Given the description of an element on the screen output the (x, y) to click on. 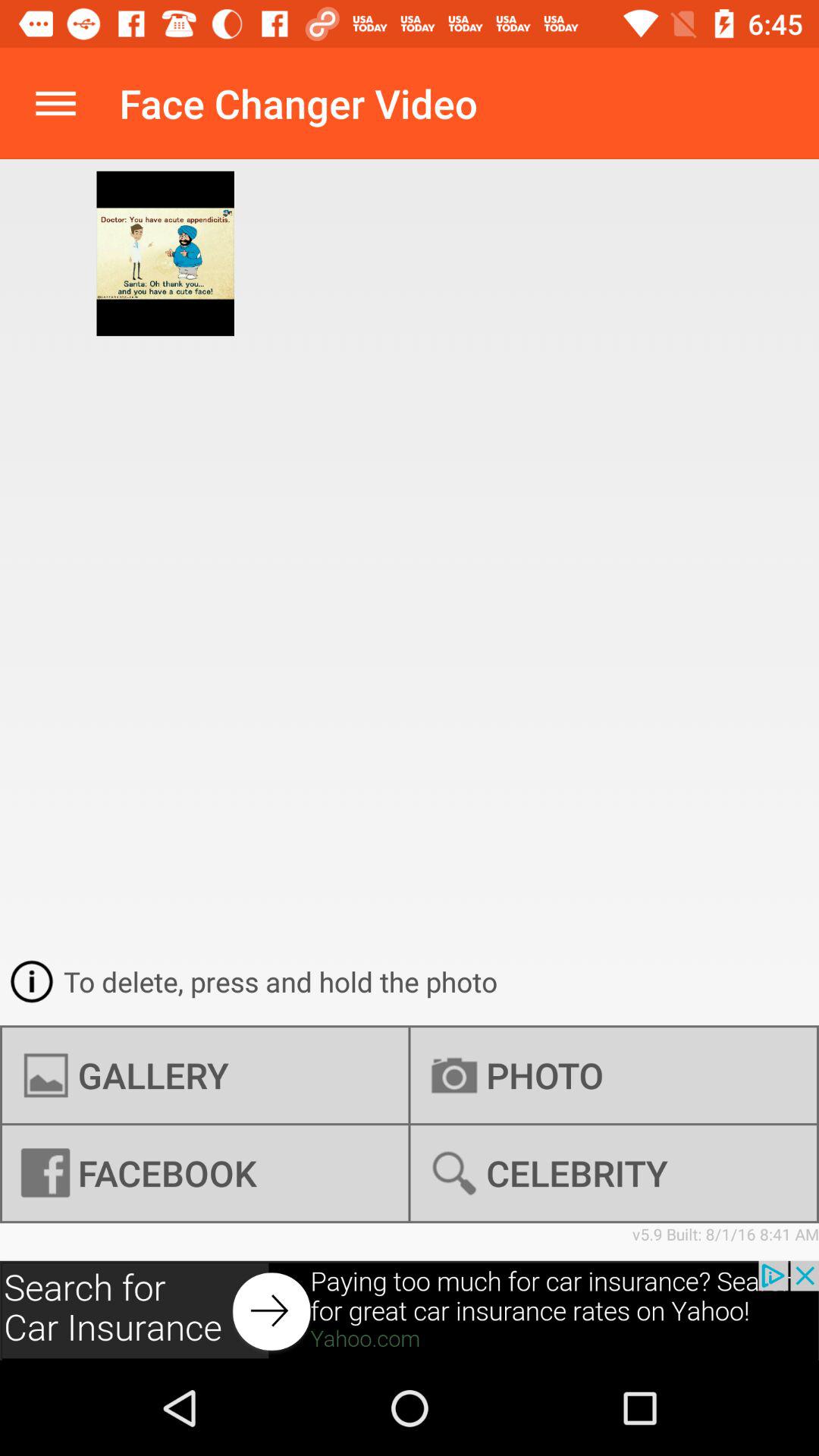
go to this website (409, 1310)
